Given the description of an element on the screen output the (x, y) to click on. 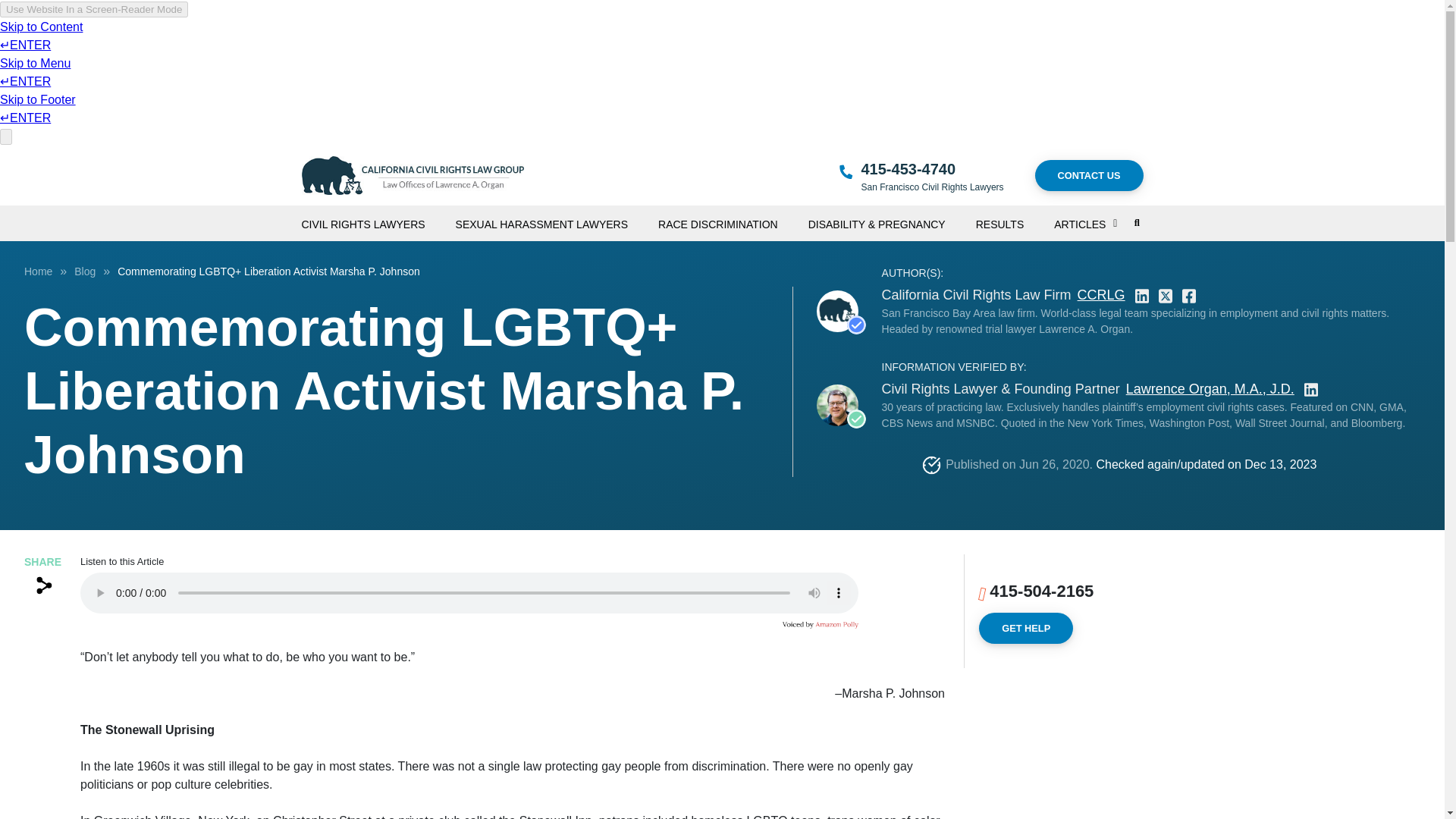
CCRLG (1101, 295)
415-504-2165 (1041, 590)
CIVIL RIGHTS LAWYERS (378, 217)
ARTICLES (1089, 217)
Search (1097, 281)
Lawrence Organ, M.A., J.D. (1209, 389)
RACE DISCRIMINATION (733, 217)
CONTACT US (1088, 174)
415-453-4740 (908, 169)
SEXUAL HARASSMENT LAWYERS (556, 217)
GET HELP (1025, 627)
Home (38, 271)
Search (1136, 223)
RESULTS (1014, 217)
Blog (85, 271)
